Given the description of an element on the screen output the (x, y) to click on. 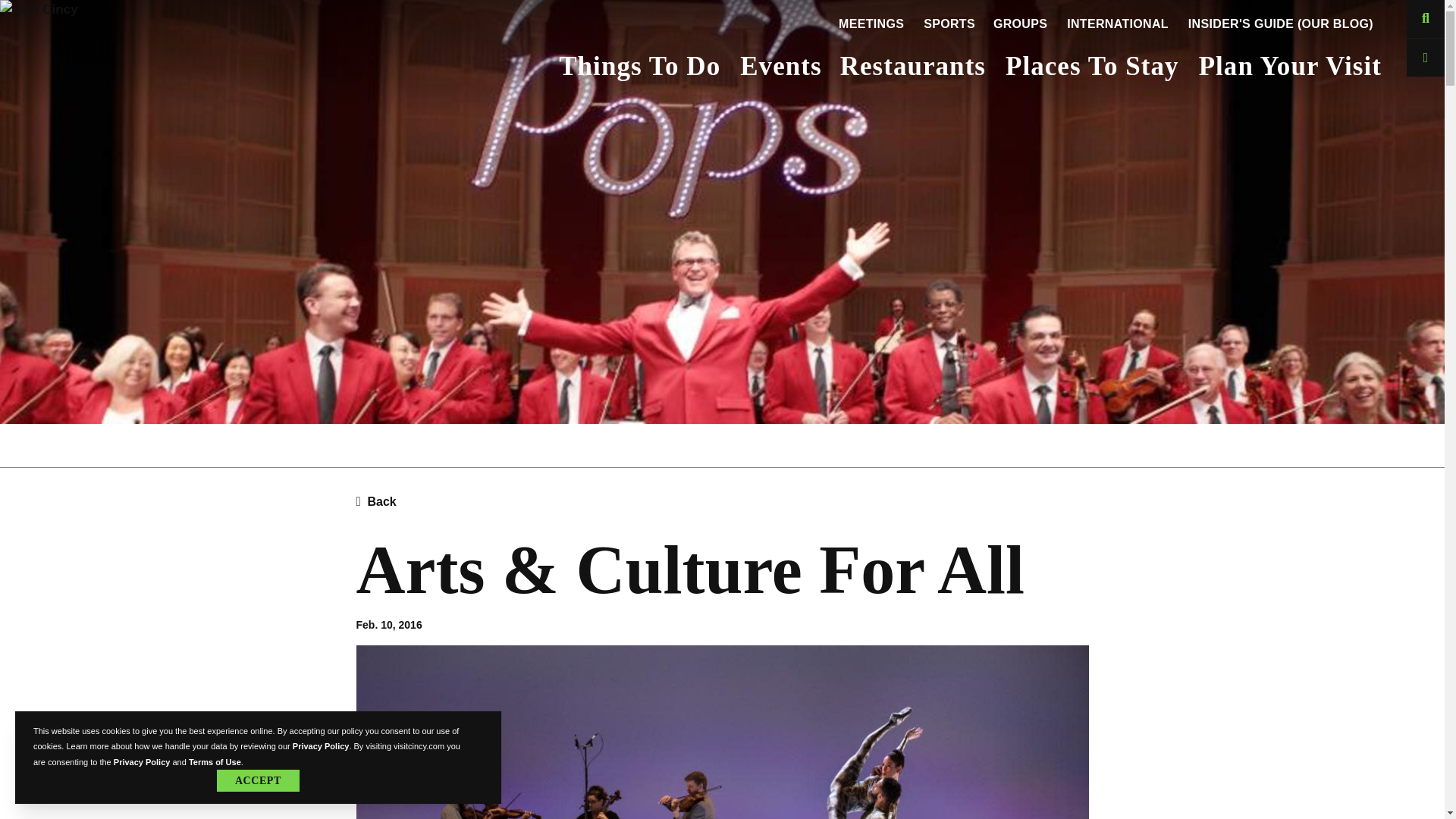
MEETINGS (870, 24)
Restaurants (912, 67)
GROUPS (1020, 24)
Events (779, 67)
Plan Your Visit (1289, 67)
Places To Stay (1091, 67)
Things To Do (639, 67)
INTERNATIONAL (1117, 24)
SPORTS (949, 24)
